Given the description of an element on the screen output the (x, y) to click on. 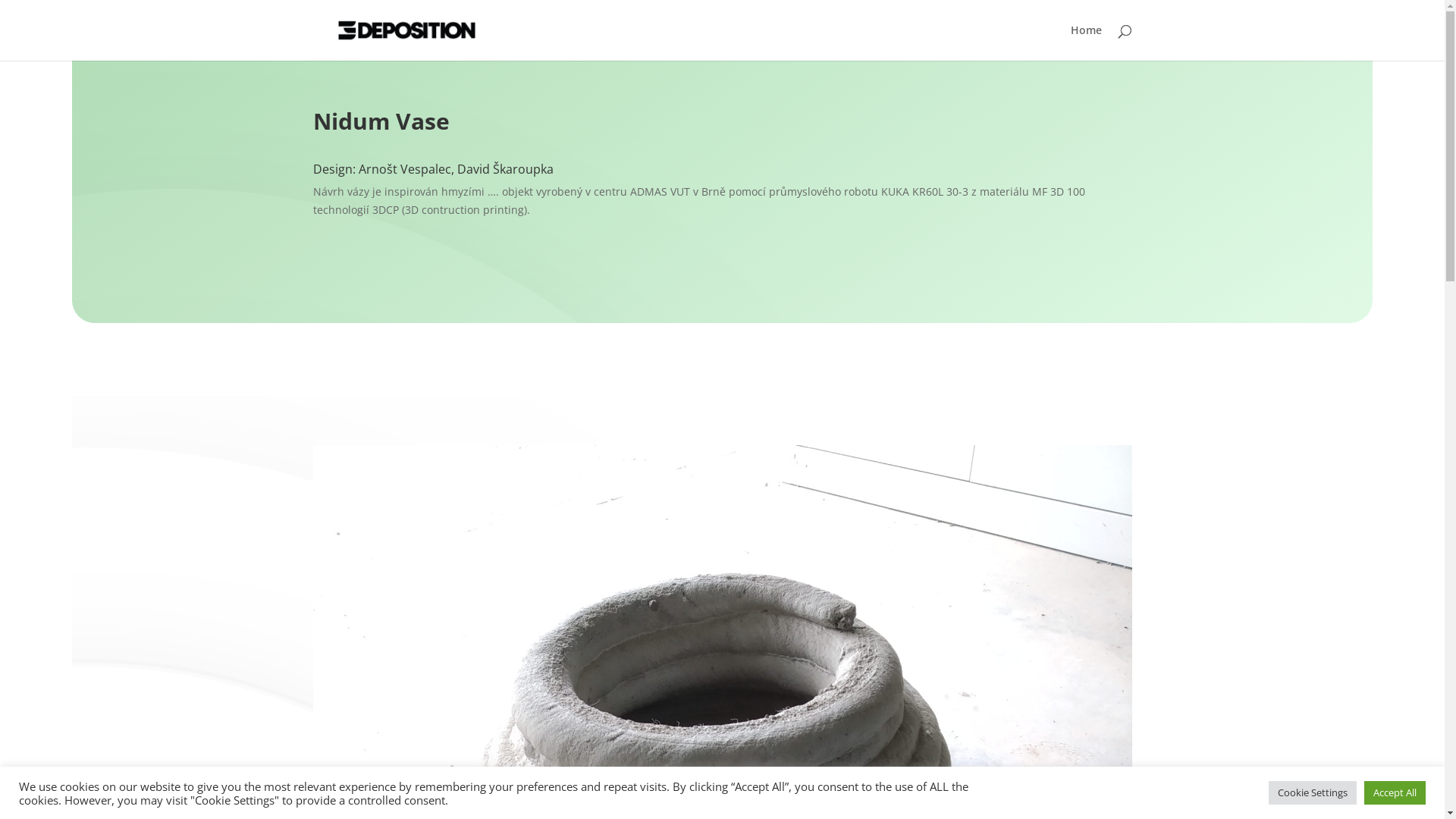
Cookie Settings Element type: text (1312, 792)
Accept All Element type: text (1394, 792)
Home Element type: text (1085, 42)
